Given the description of an element on the screen output the (x, y) to click on. 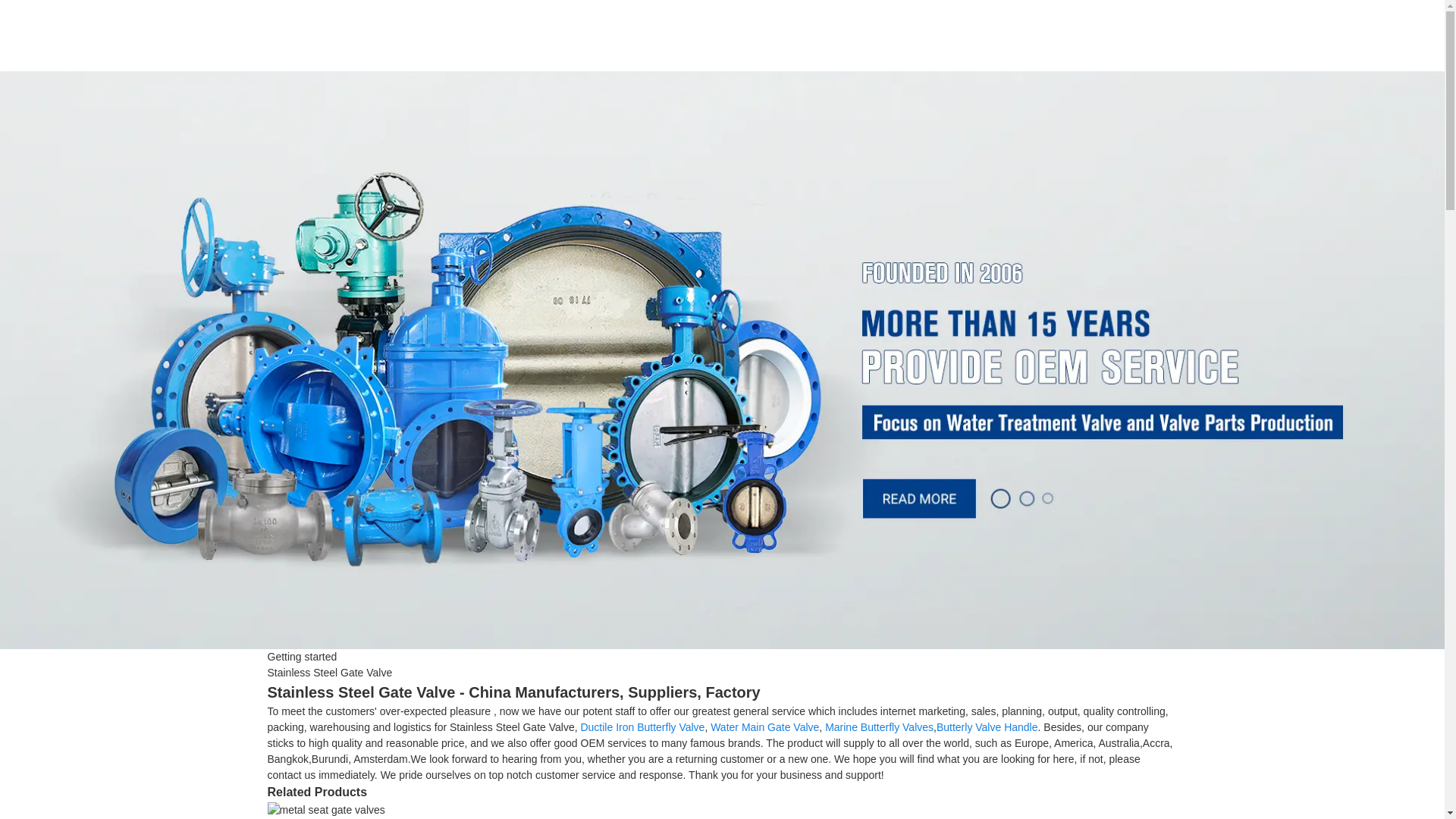
Getting started (301, 656)
Stainless Steel Seal Non Rising Stem Gate Valve (325, 808)
Butterly Valve Handle (987, 727)
Marine Butterfly Valves (879, 727)
Water Main Gate Valve (764, 727)
Stainless Steel Gate Valve (328, 672)
ABOUT US (954, 33)
English (1258, 33)
Ductile Iron Butterfly Valve (641, 727)
CONTACT US (1092, 33)
